Given the description of an element on the screen output the (x, y) to click on. 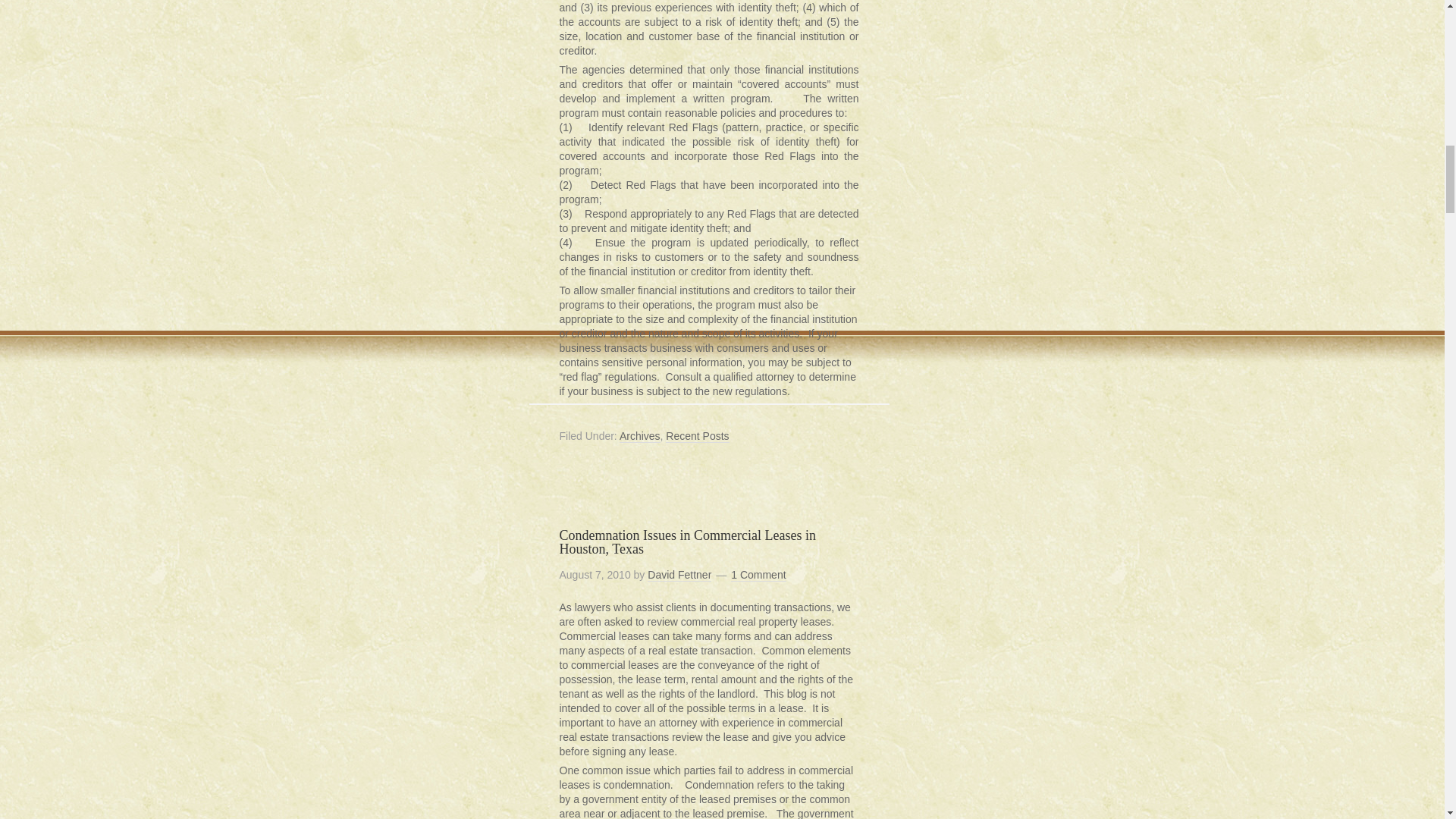
Recent Posts (697, 436)
Condemnation Issues in Commercial Leases in Houston, Texas (687, 541)
Archives (640, 436)
David Fettner (679, 574)
1 Comment (758, 574)
